Given the description of an element on the screen output the (x, y) to click on. 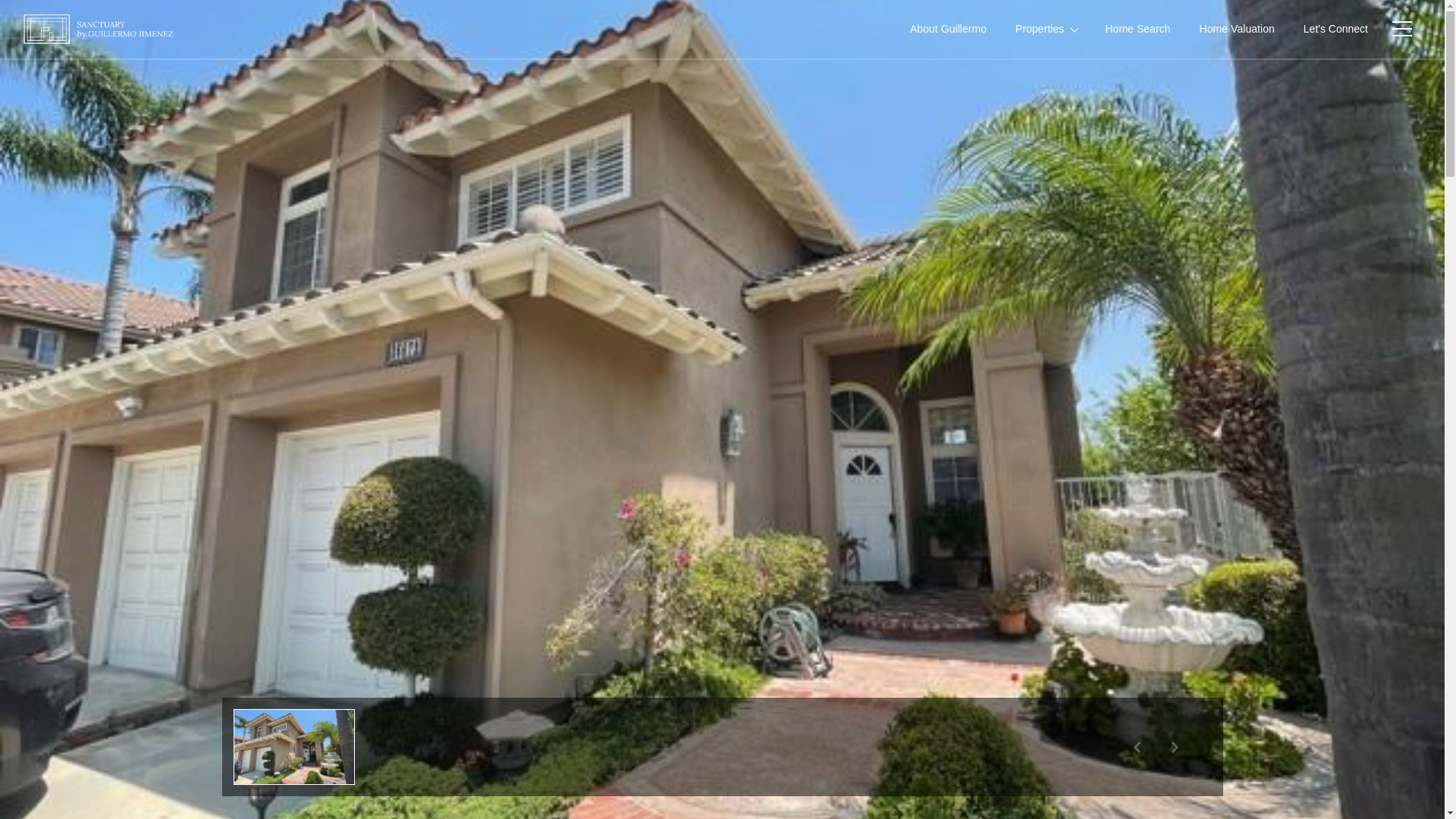
About Guillermo (948, 29)
Home Valuation (1236, 29)
Properties (1045, 29)
Home Search (1137, 29)
Let's Connect (1334, 29)
